Given the description of an element on the screen output the (x, y) to click on. 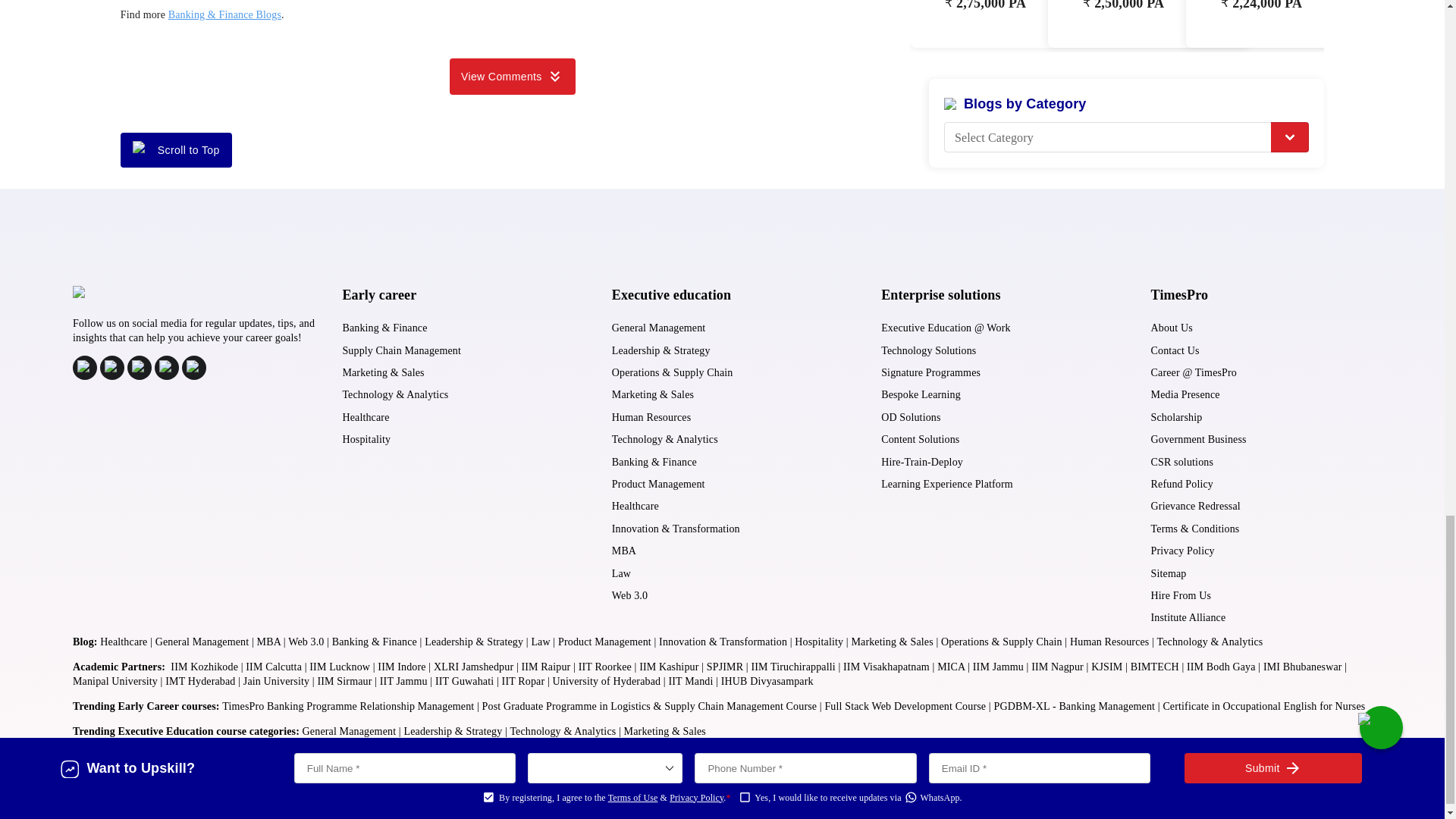
Executive education (670, 294)
Product Management (657, 483)
Healthcare (365, 417)
Early career (379, 294)
Healthcare (635, 505)
General Management (658, 327)
View Comments (512, 76)
Human Resources (651, 417)
Supply Chain Management (401, 350)
Scroll to Top (175, 149)
